Given the description of an element on the screen output the (x, y) to click on. 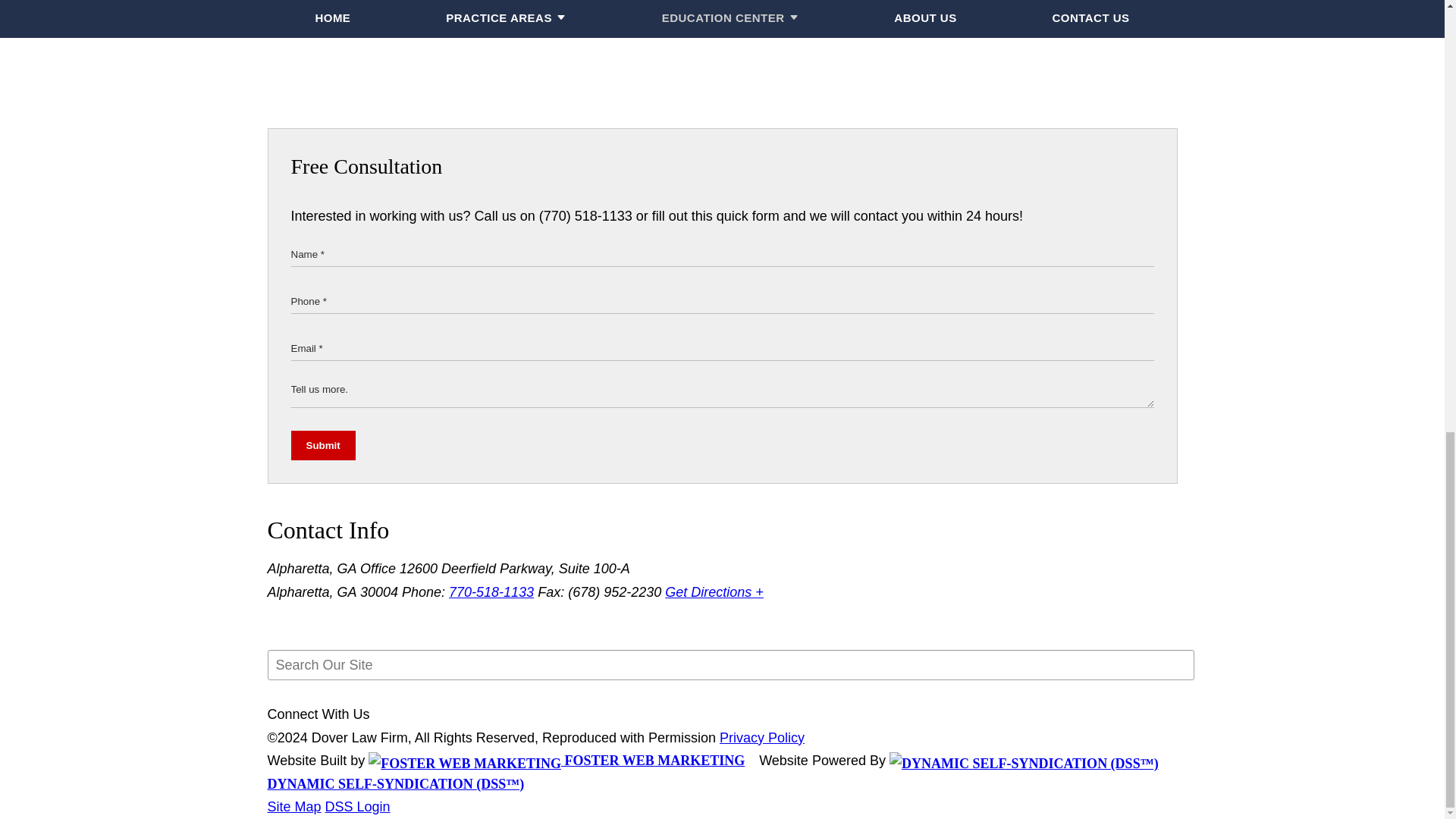
Site Map (293, 806)
FOSTER WEB MARKETING (556, 760)
770-518-1133 (491, 591)
Submit (323, 445)
Privacy Policy (762, 737)
DSS Login (357, 806)
